Given the description of an element on the screen output the (x, y) to click on. 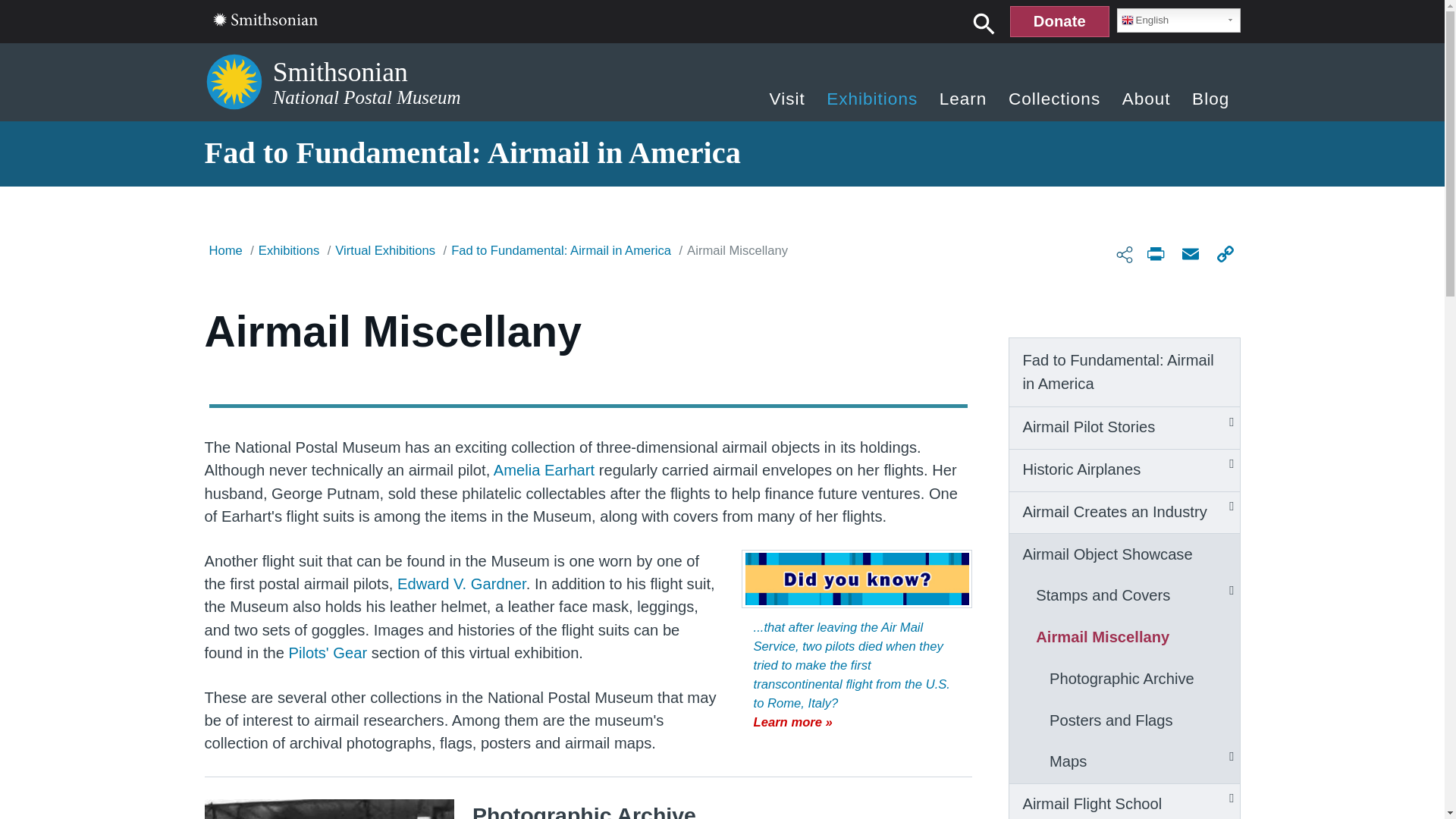
English (1178, 20)
Donate (1059, 21)
Search (984, 23)
